Given the description of an element on the screen output the (x, y) to click on. 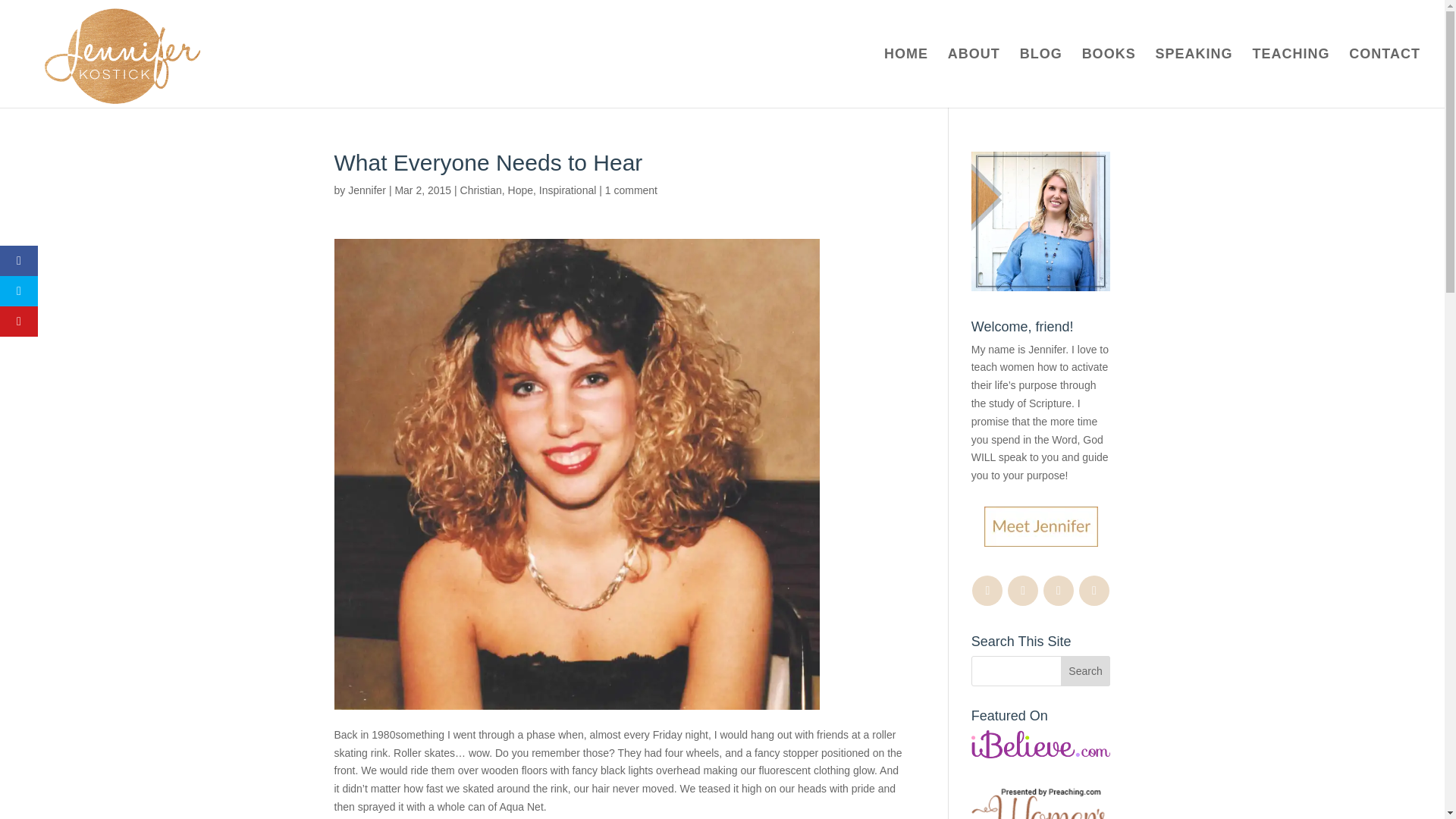
CONTACT (1385, 77)
Hope (520, 190)
Christian (481, 190)
BOOKS (1108, 77)
Search (1085, 671)
Jennifer (366, 190)
SPEAKING (1194, 77)
Search (1085, 671)
Posts by Jennifer (366, 190)
1 comment (631, 190)
